Given the description of an element on the screen output the (x, y) to click on. 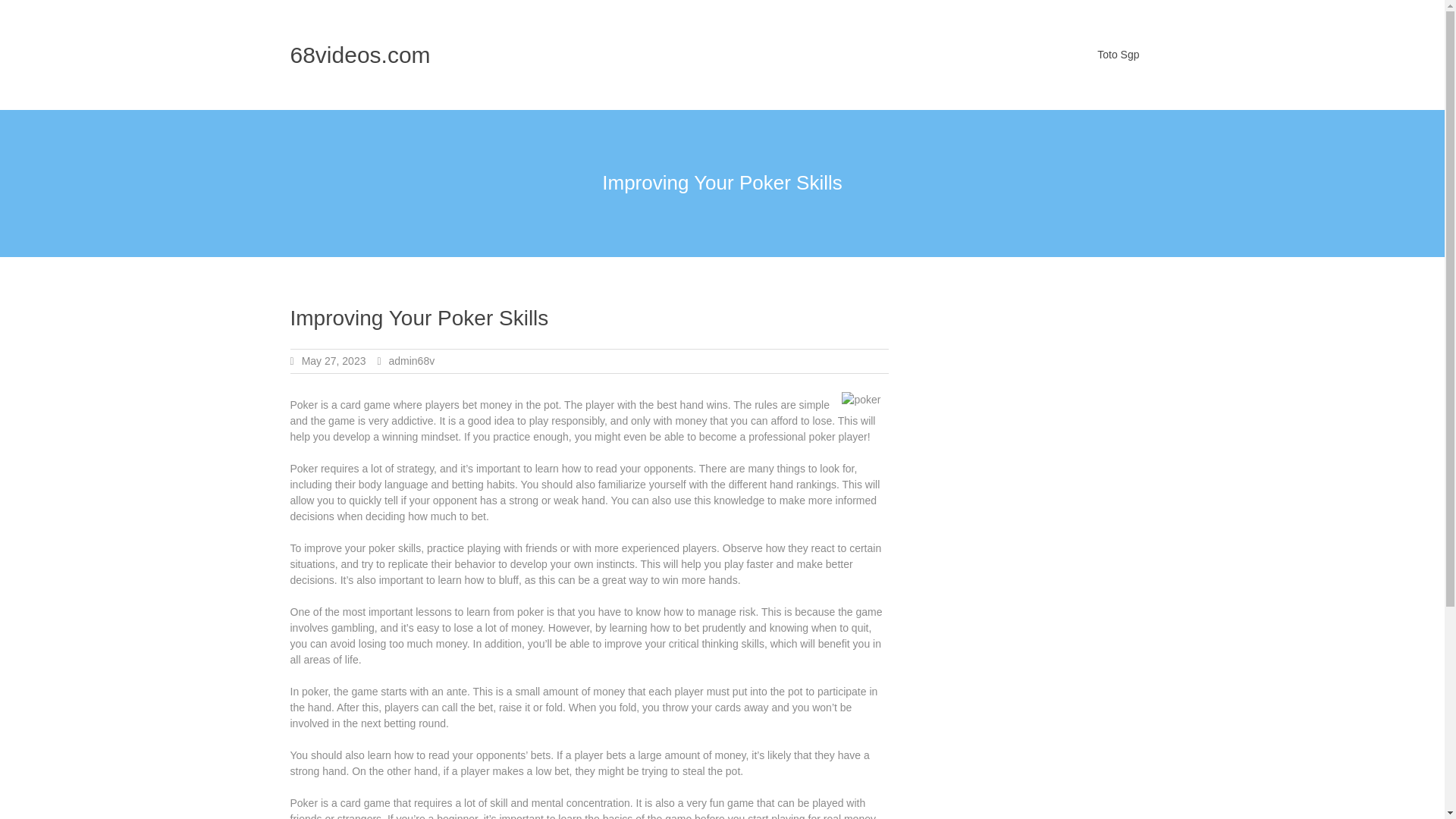
admin68v (410, 360)
May 27, 2023 (333, 360)
68videos.com (359, 54)
Toto Sgp (1117, 55)
